Given the description of an element on the screen output the (x, y) to click on. 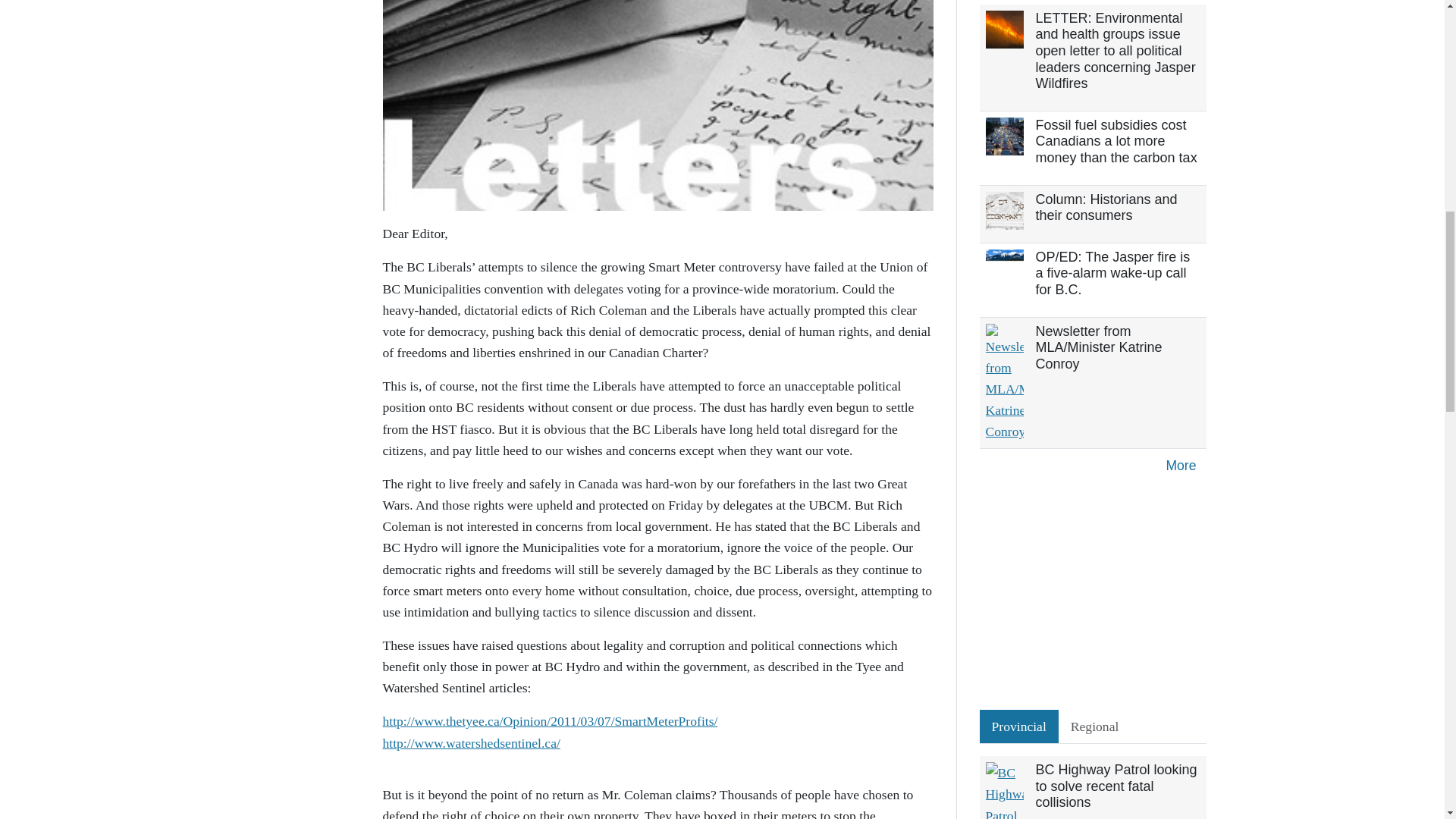
3rd party ad content (1093, 596)
